Given the description of an element on the screen output the (x, y) to click on. 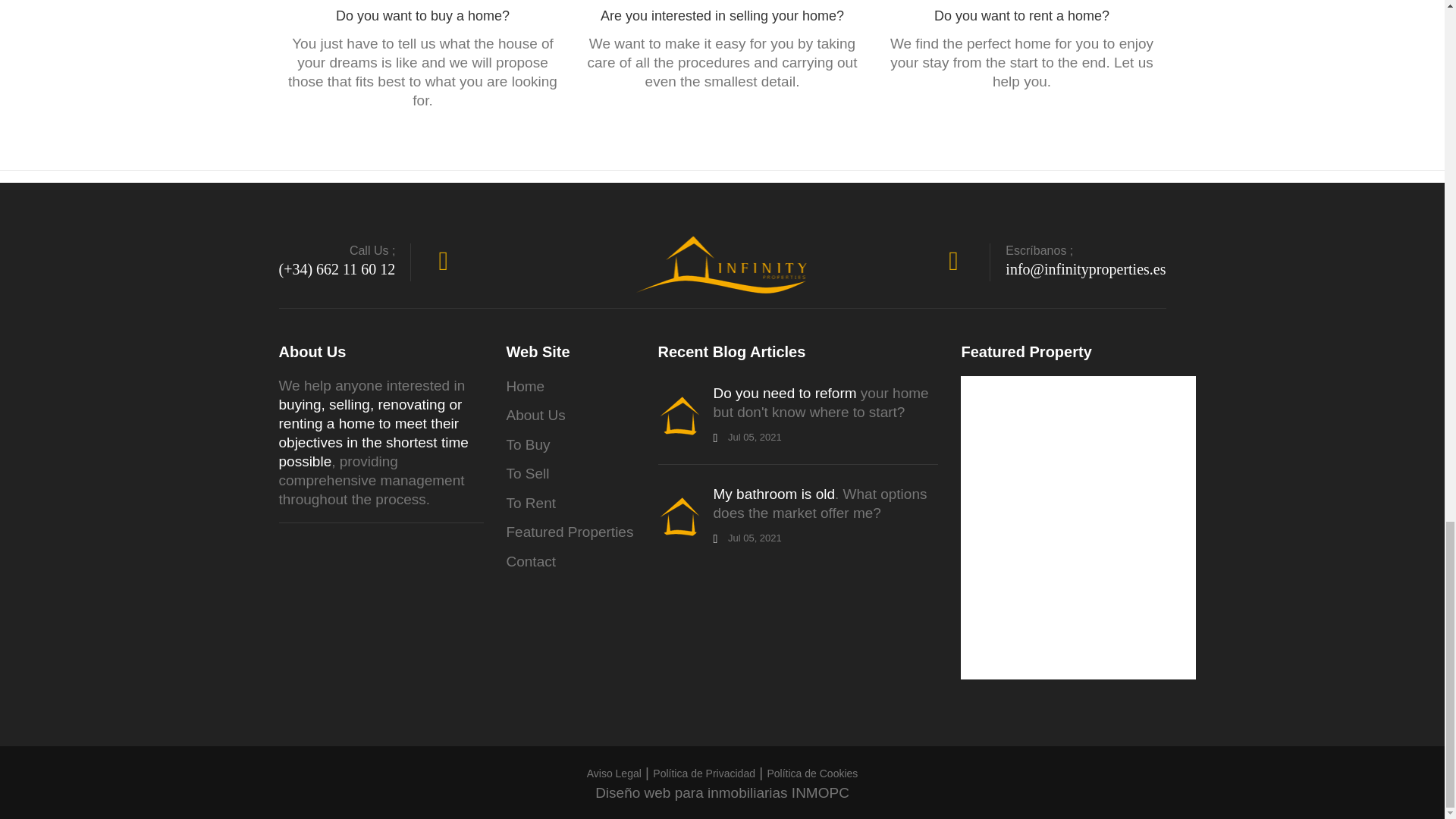
Home (525, 386)
My bathroom is old (773, 493)
Are you interested in selling your home? (721, 14)
Contact (531, 562)
Featured Properties (569, 532)
To Buy (528, 445)
Do you want to rent a home? (1021, 14)
Aviso Legal (614, 773)
About Us (536, 415)
Do you need to reform (784, 393)
